Given the description of an element on the screen output the (x, y) to click on. 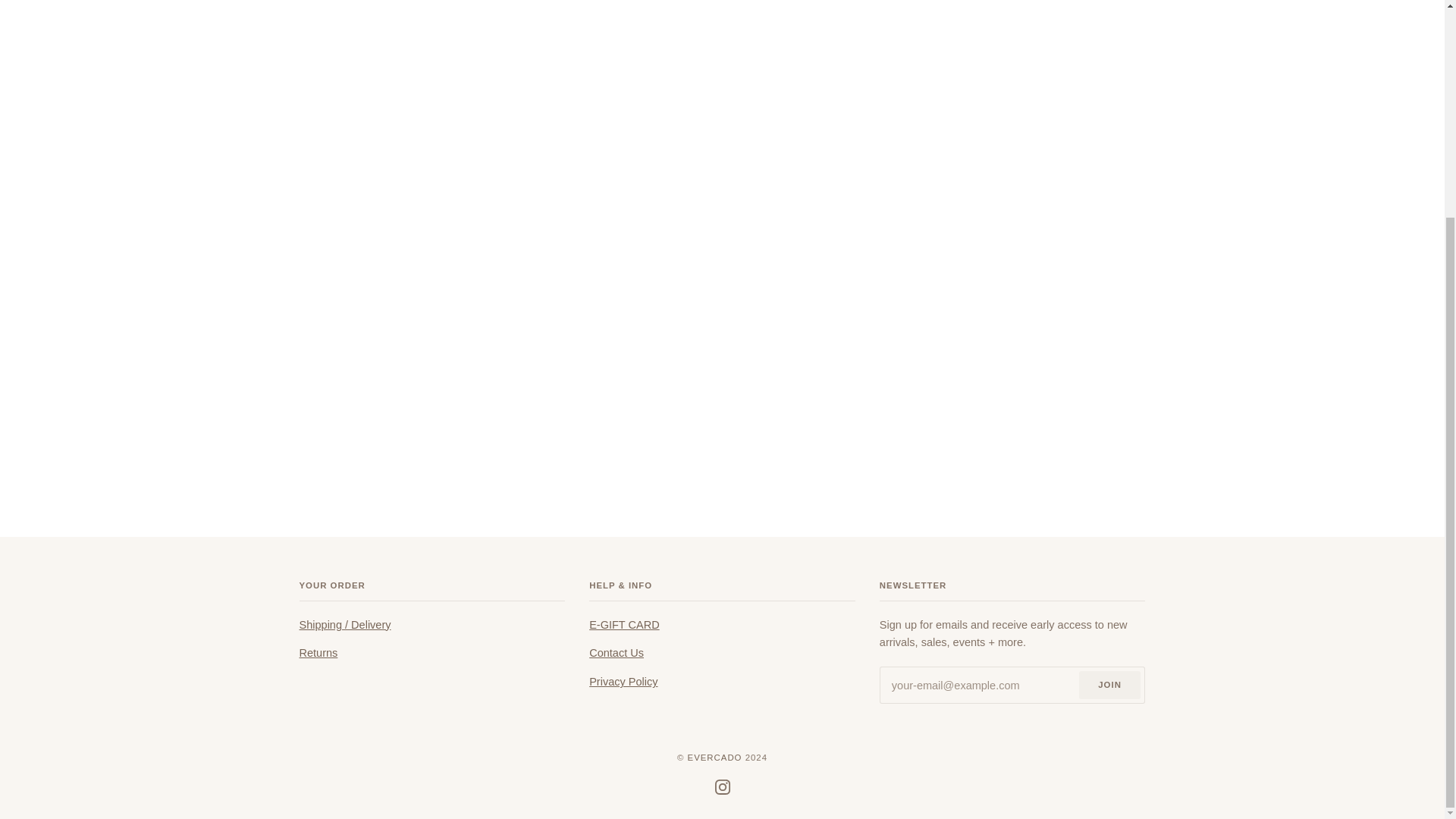
Instagram (721, 786)
Evercado E-Gift Card (624, 624)
Contact Us (616, 653)
Contact Us (616, 653)
PRIVACY POLICY (623, 681)
E-GIFT CARD (624, 624)
Returns (317, 653)
